Given the description of an element on the screen output the (x, y) to click on. 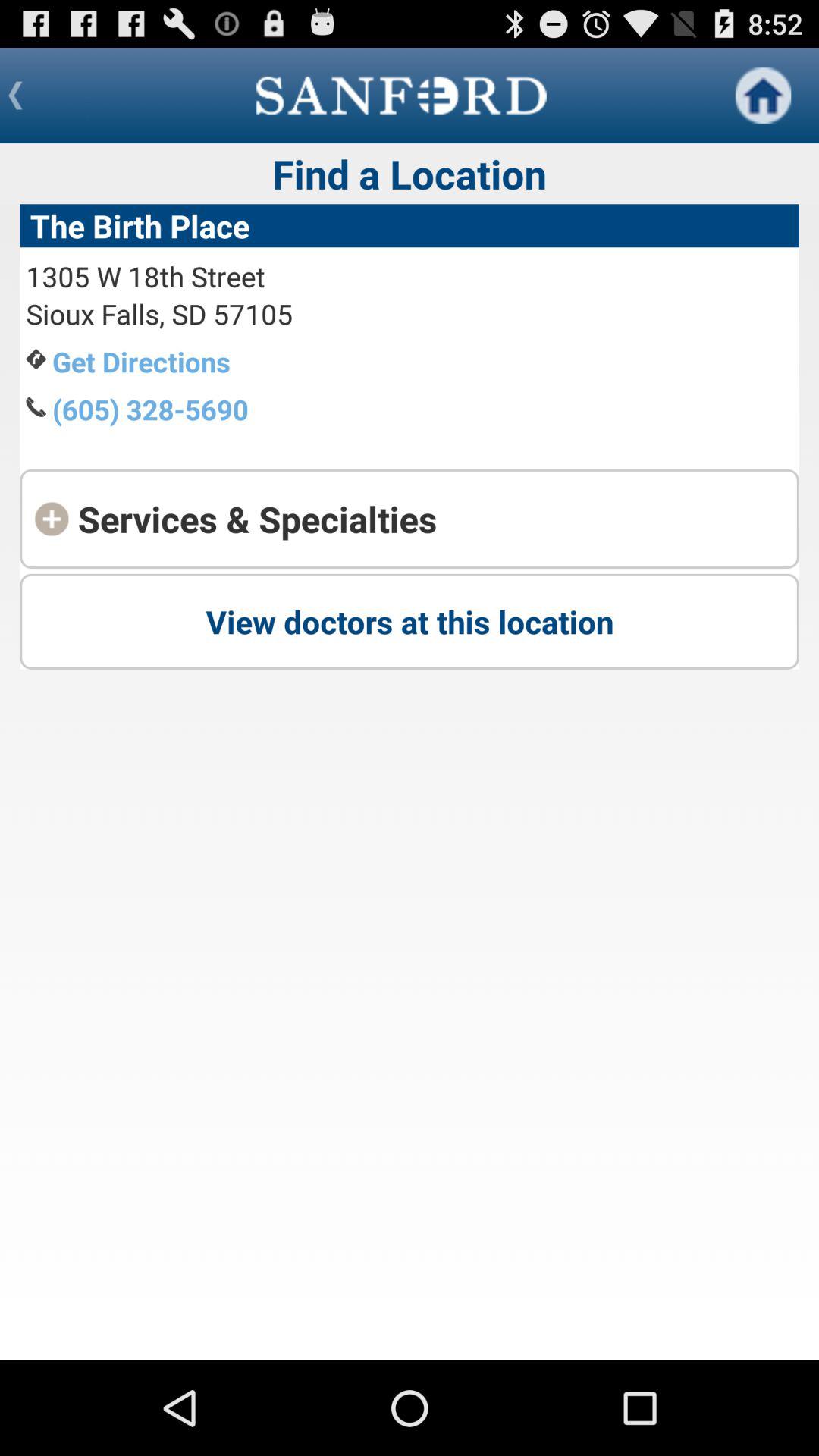
turn off item below the sioux falls sd app (141, 361)
